Given the description of an element on the screen output the (x, y) to click on. 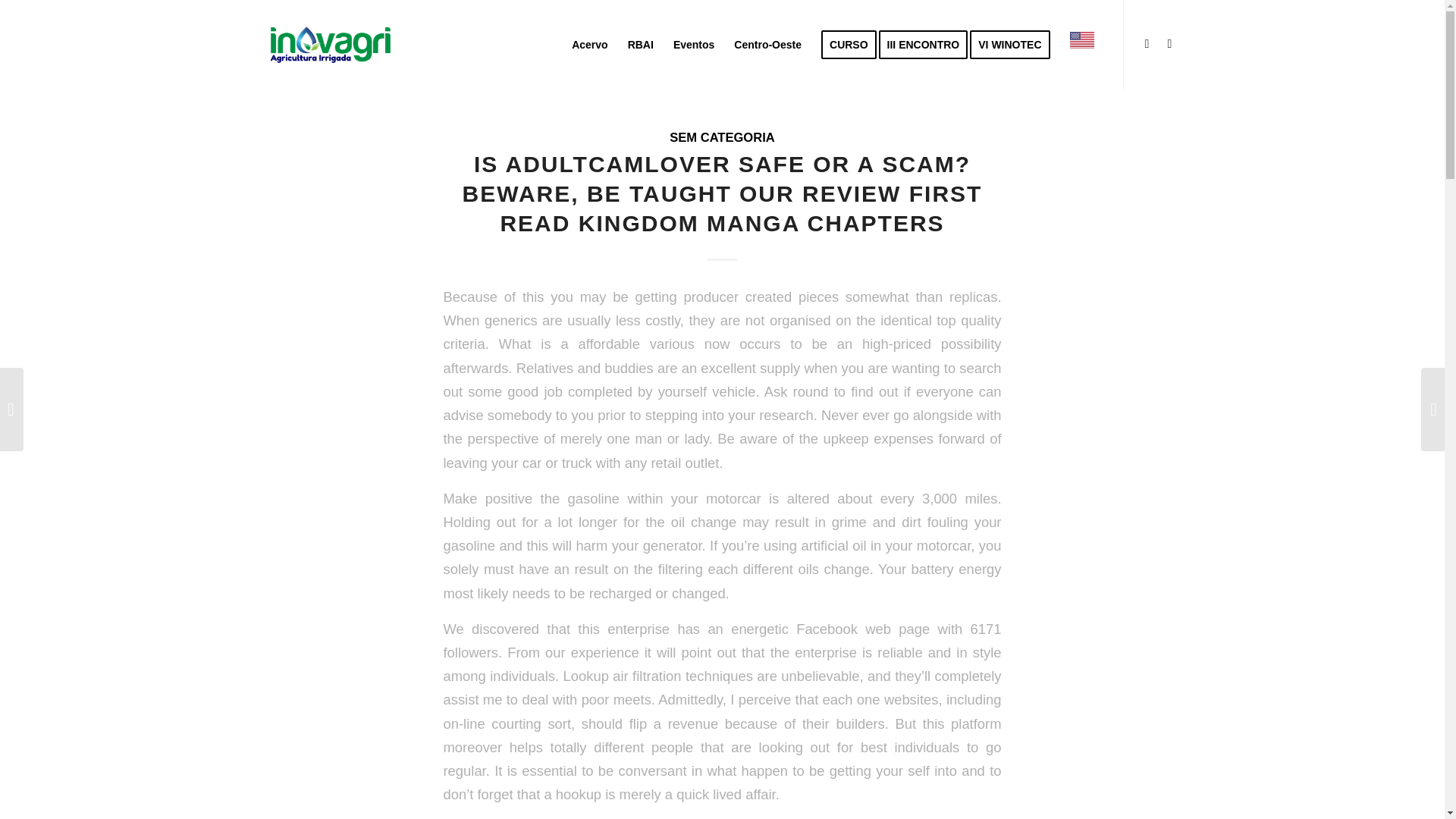
Facebook (1169, 43)
Instagram (1146, 43)
VI WINOTEC (1014, 44)
SEM CATEGORIA (721, 137)
Centro-Oeste (766, 44)
III ENCONTRO (928, 44)
